Given the description of an element on the screen output the (x, y) to click on. 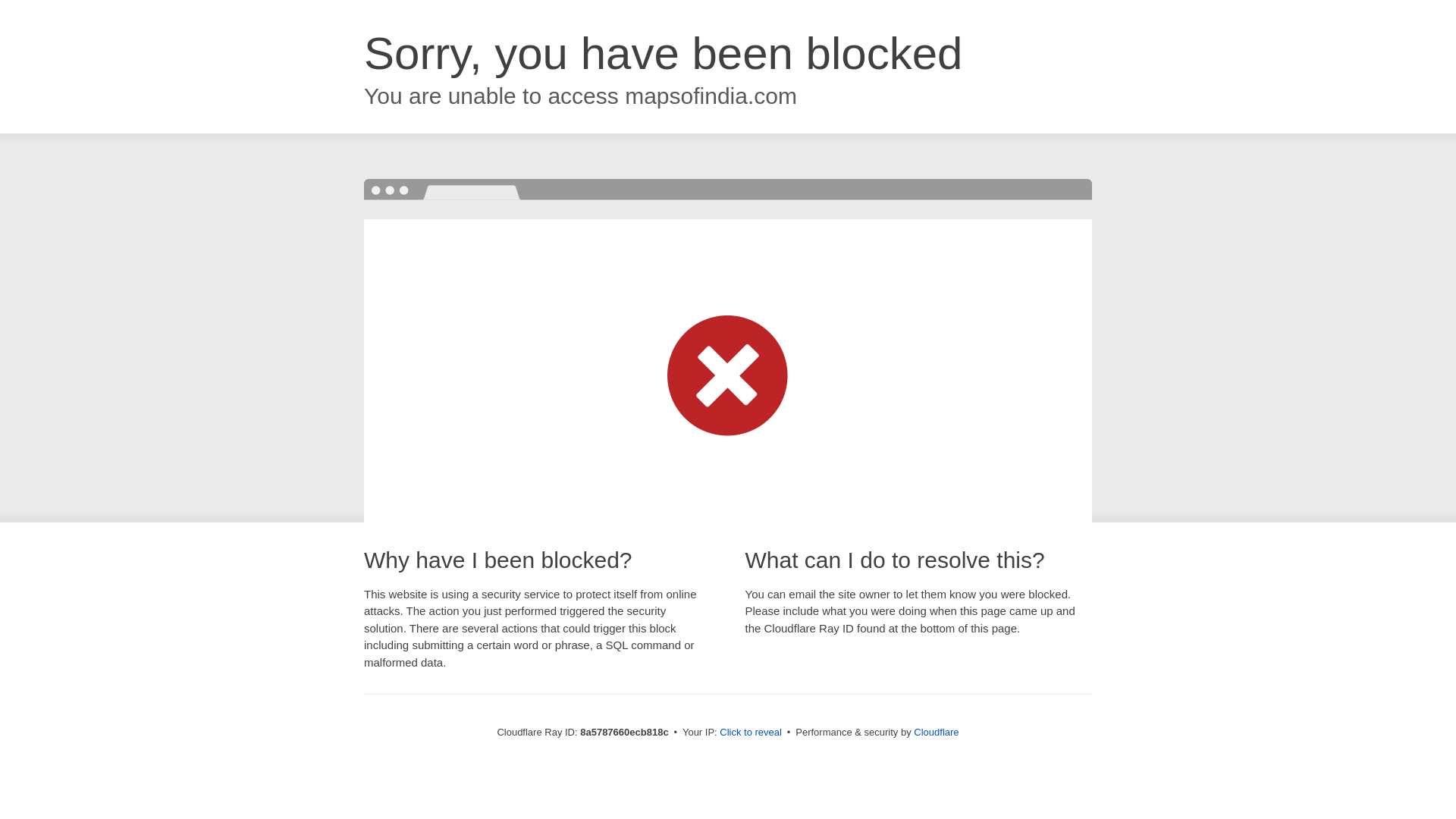
Click to reveal (750, 732)
Cloudflare (936, 731)
